Given the description of an element on the screen output the (x, y) to click on. 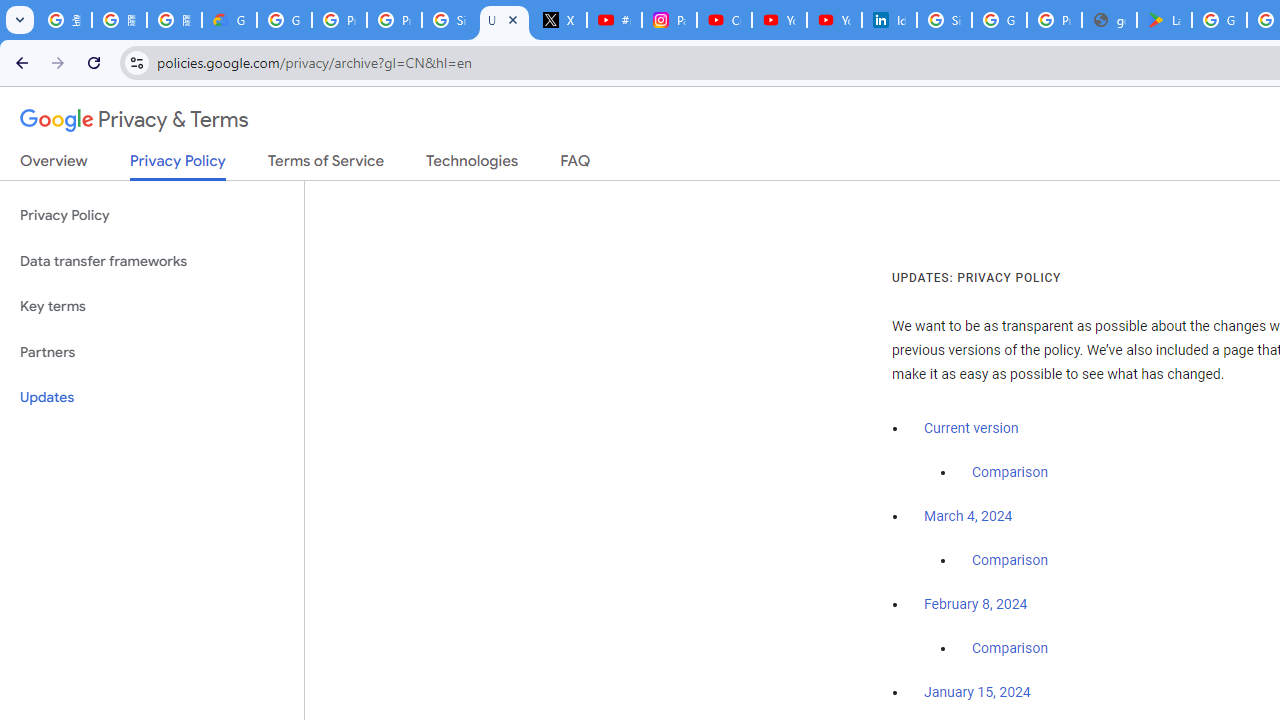
Sign in - Google Accounts (449, 20)
FAQ (575, 165)
Comparison (1009, 649)
YouTube Culture & Trends - YouTube Top 10, 2021 (833, 20)
Privacy Help Center - Policies Help (394, 20)
January 15, 2024 (977, 693)
